Given the description of an element on the screen output the (x, y) to click on. 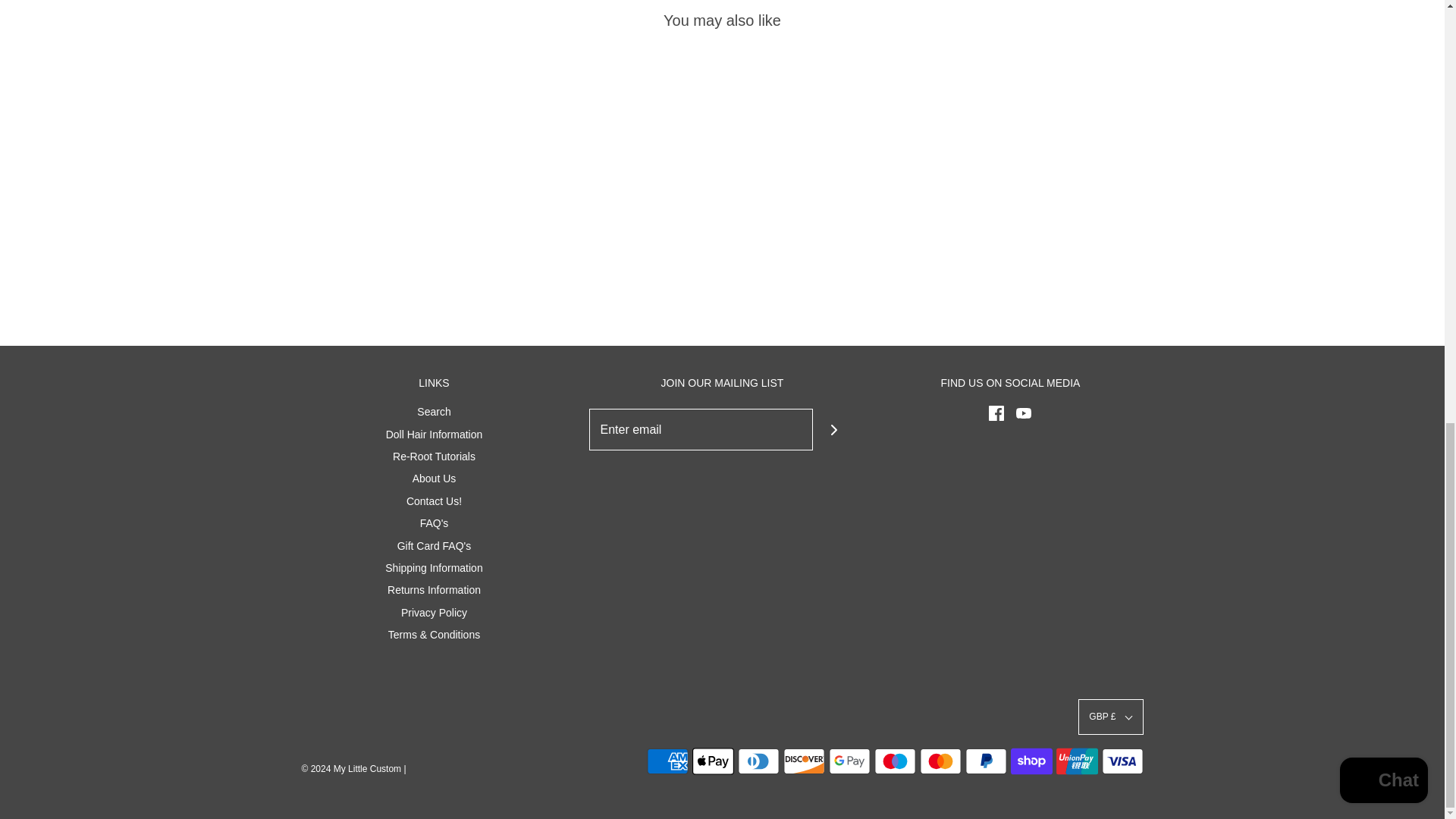
Facebook icon (996, 412)
Diners Club (757, 761)
Google Pay (848, 761)
YouTube icon (1023, 412)
Apple Pay (712, 761)
PayPal (984, 761)
Mastercard (939, 761)
Discover (803, 761)
Maestro (894, 761)
American Express (666, 761)
